Given the description of an element on the screen output the (x, y) to click on. 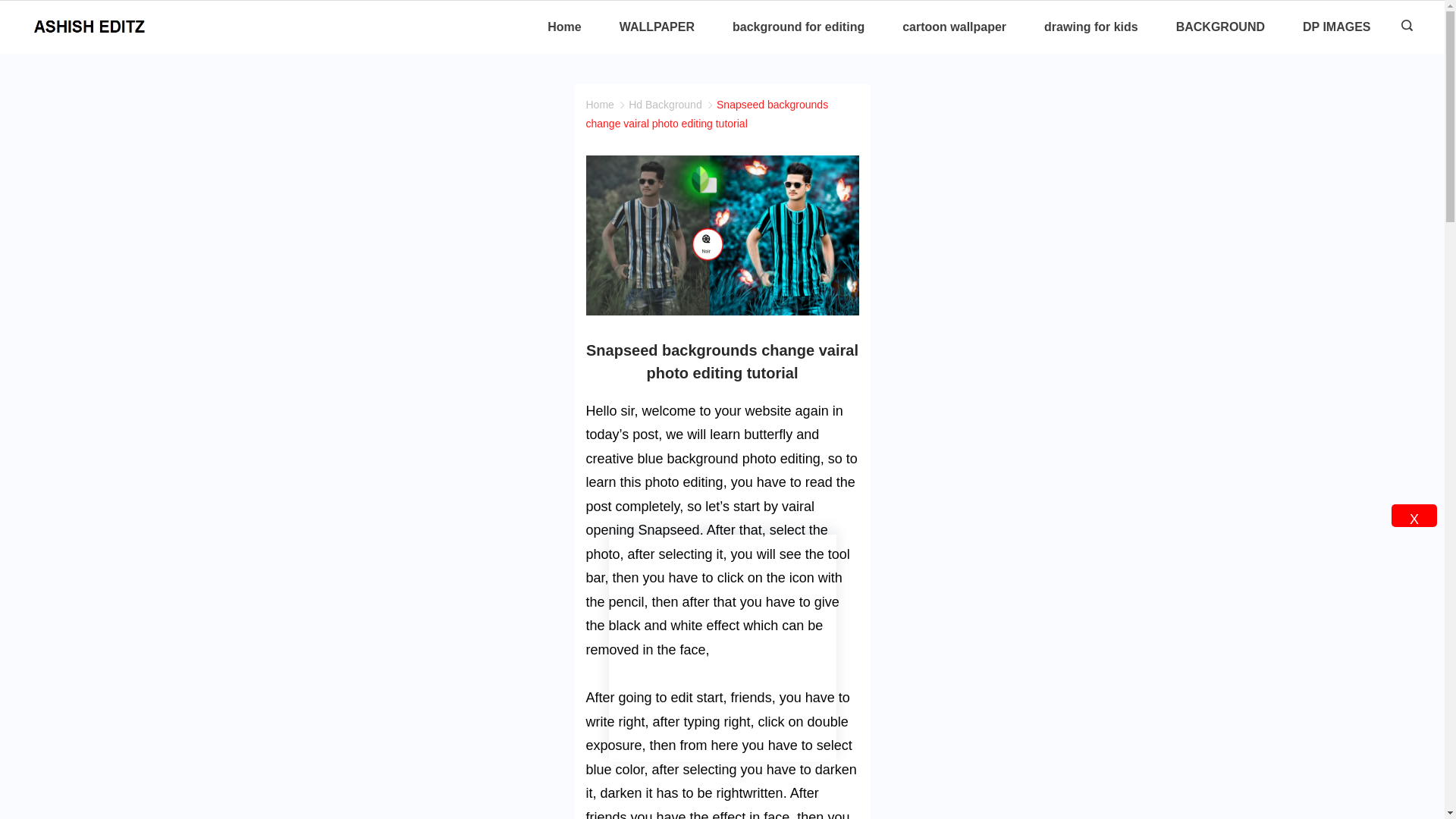
BACKGROUND (1220, 26)
Home (573, 26)
Home (598, 104)
WALLPAPER (656, 26)
cartoon wallpaper (954, 26)
background for editing (798, 26)
Snapseed backgrounds change vairal photo editing tutorial (706, 113)
Hd Background (664, 104)
drawing for kids (1091, 26)
DP IMAGES (1327, 26)
